Given the description of an element on the screen output the (x, y) to click on. 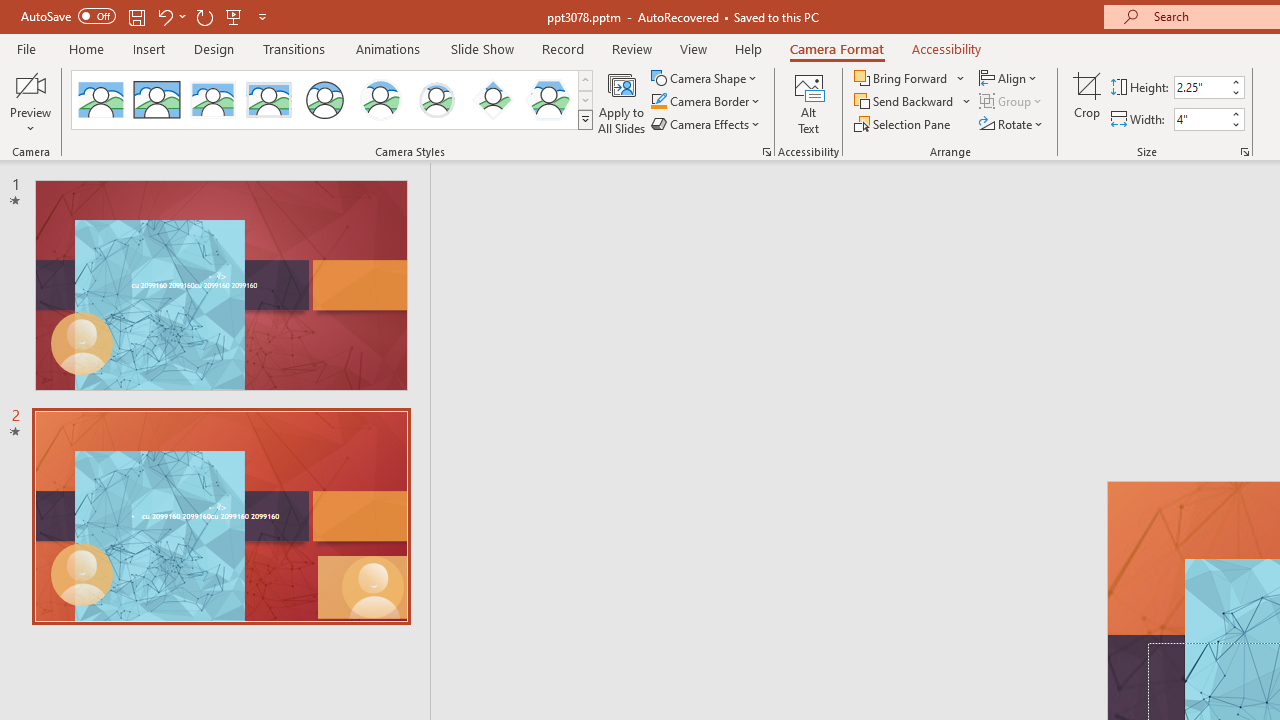
No Style (100, 100)
Send Backward (905, 101)
Simple Frame Rectangle (157, 100)
Camera Shape (705, 78)
Cameo Height (1201, 87)
Soft Edge Circle (436, 100)
